Given the description of an element on the screen output the (x, y) to click on. 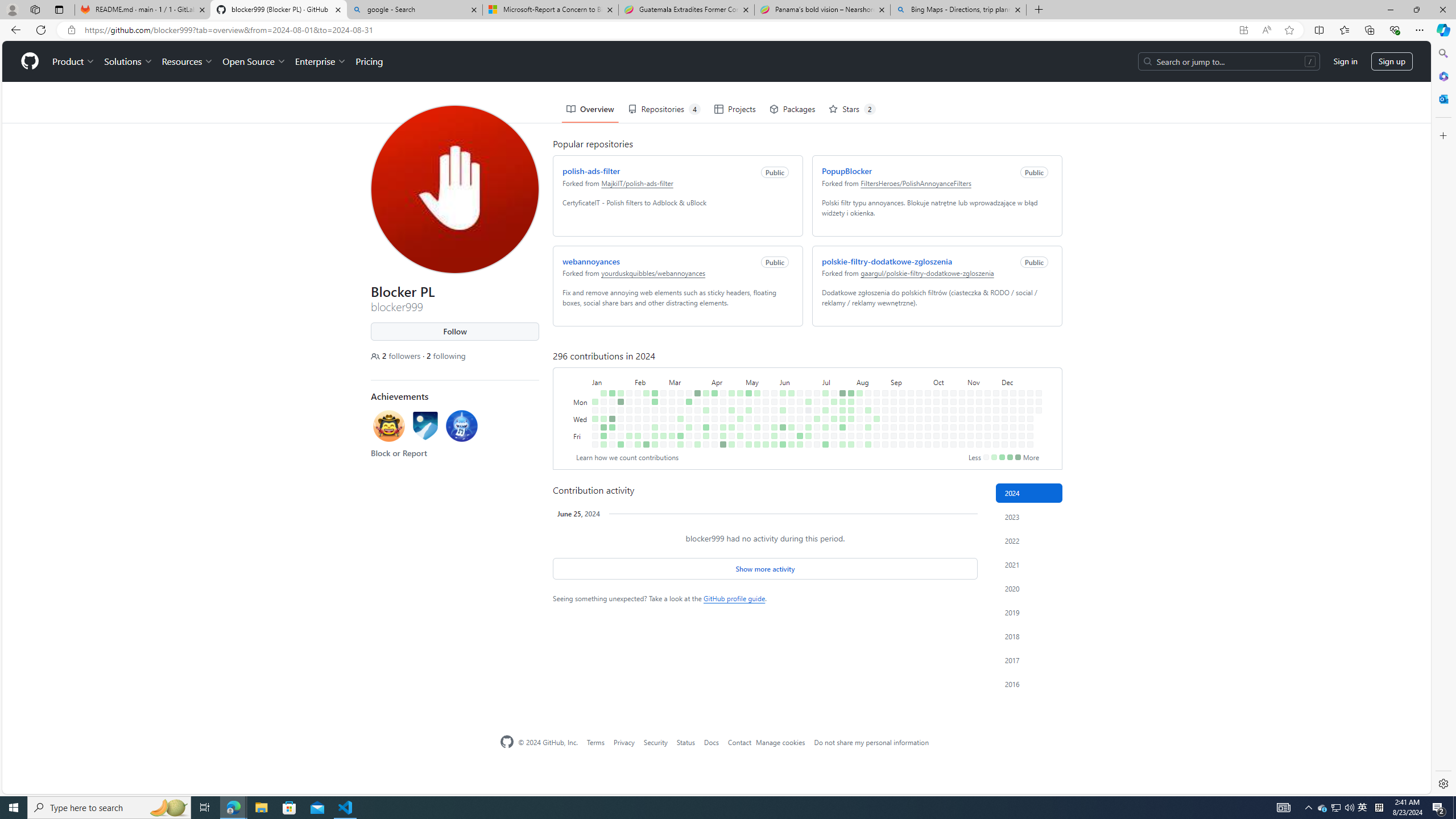
No contributions on September 12th. (899, 386)
No contributions on January 9th. (601, 369)
No contributions on November 5th. (968, 369)
1 contribution on February 9th. (635, 394)
23 contributions on January 22nd. (618, 360)
2021 (1028, 564)
2 contributions on February 24th. (655, 444)
No contributions on November 15th. (978, 435)
No contributions on July 16th. (831, 369)
December (1018, 339)
@blocker999 (377, 13)
No contributions on April 26th. (729, 394)
No contributions on September 24th. (917, 369)
Overview (587, 67)
yourduskquibbles/webannoyances (650, 231)
